Given the description of an element on the screen output the (x, y) to click on. 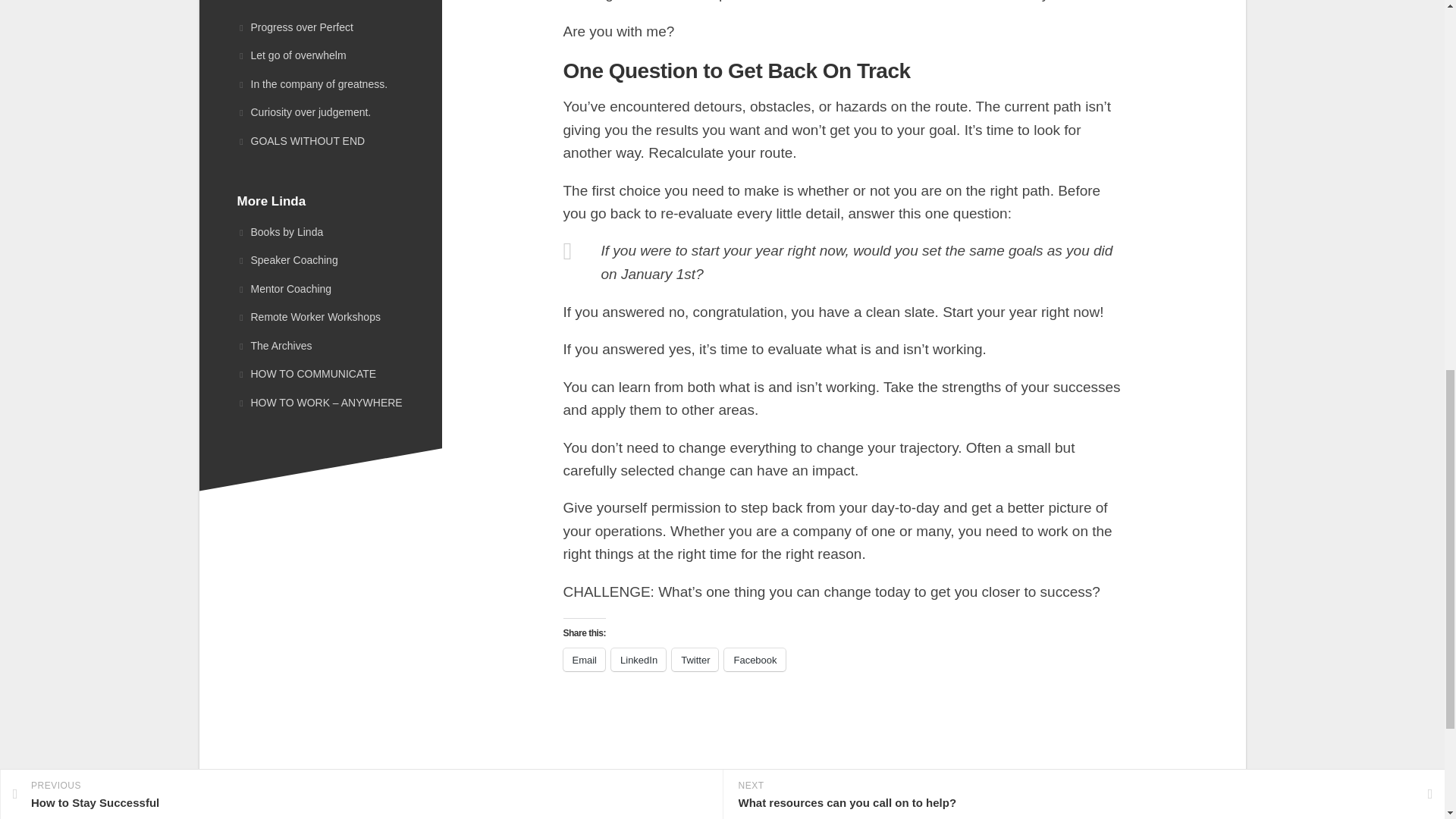
LinkedIn (638, 659)
Twitter (694, 659)
Click to share on Twitter (694, 659)
Progress over Perfect (293, 27)
Click to share on LinkedIn (638, 659)
Click to share on Facebook (753, 659)
Books by Linda (319, 232)
Speaker Coaching (319, 260)
Email (583, 659)
Curiosity over judgement. (303, 111)
The Archives (319, 346)
Remote Worker Workshops (319, 317)
Facebook (753, 659)
Let go of overwhelm (290, 55)
Click to email a link to a friend (583, 659)
